Given the description of an element on the screen output the (x, y) to click on. 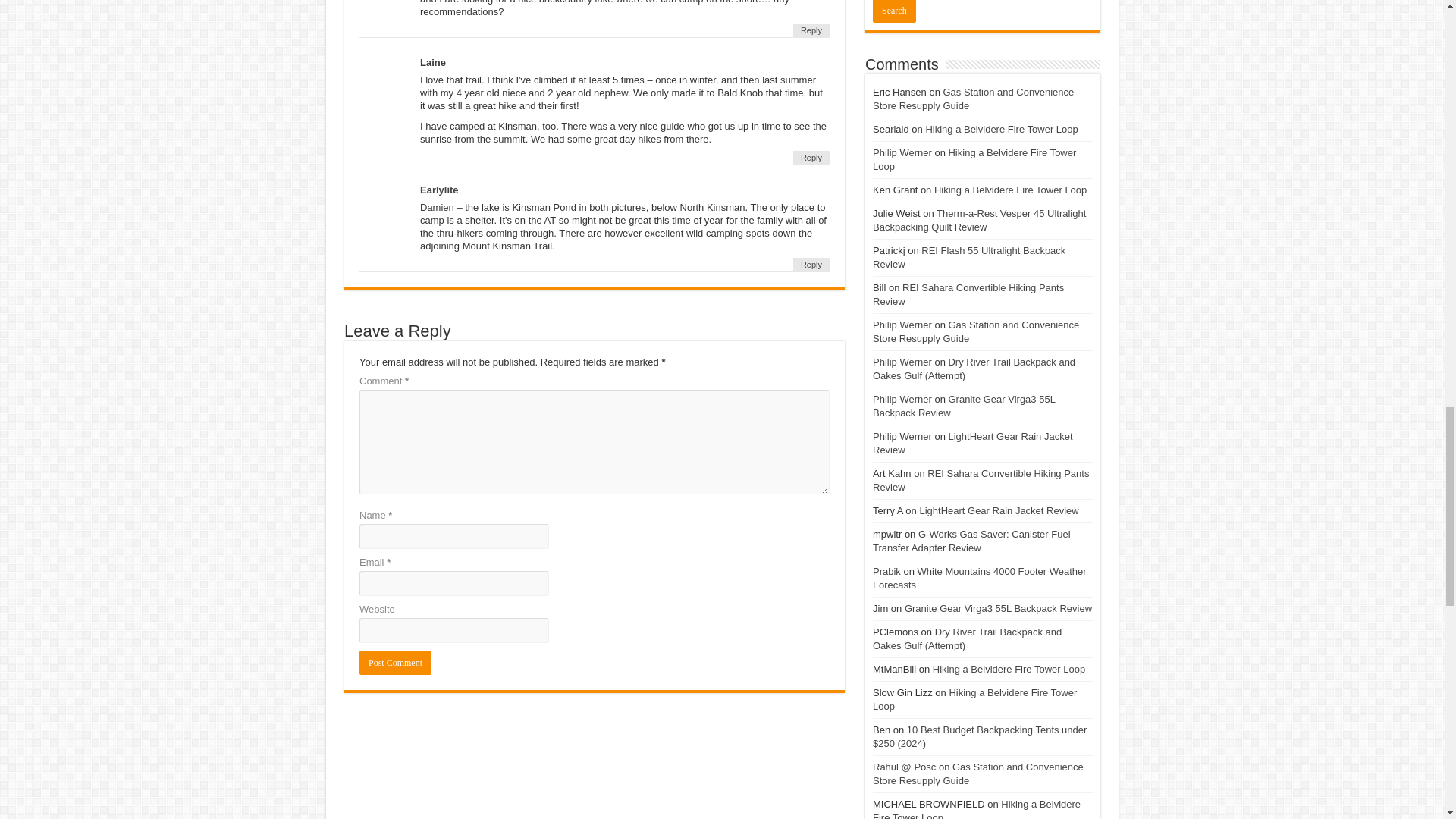
Reply (811, 264)
Reply (811, 29)
Post Comment (394, 662)
Earlylite (439, 189)
Reply (811, 157)
Search (893, 11)
Search (893, 11)
